Given the description of an element on the screen output the (x, y) to click on. 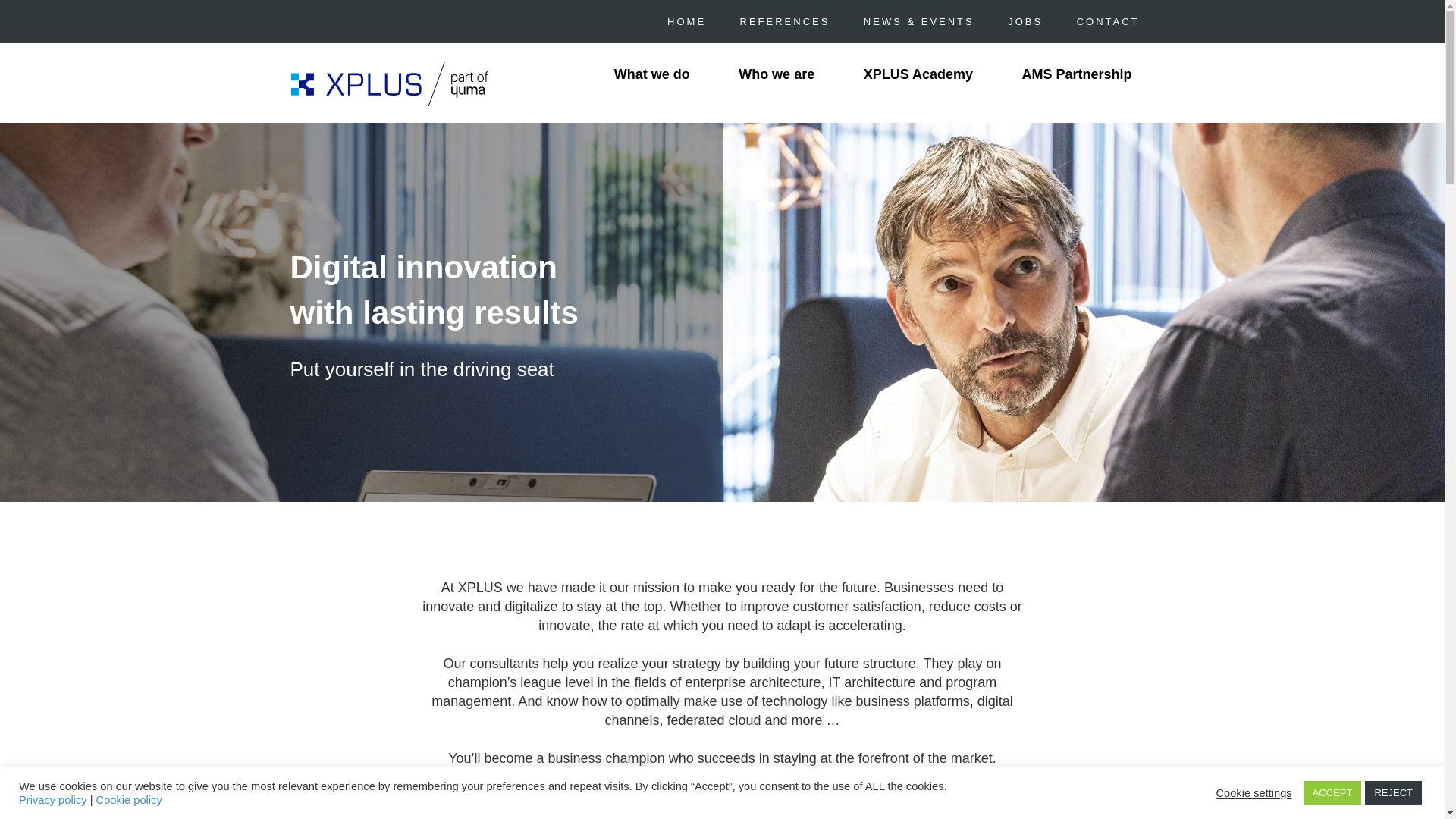
AMS Partnership (1076, 75)
Cookie policy (128, 799)
LEARN HOW TO DRIVE CHANGE (464, 806)
REFERENCES (784, 21)
JOBS (1024, 21)
Who we are (775, 75)
HOME (686, 21)
XPLUS Academy (917, 75)
Cookie settings (1253, 792)
REJECT (1393, 792)
ACCEPT (1332, 792)
What we do (652, 75)
CONTACT (1108, 21)
Privacy policy (52, 799)
